Given the description of an element on the screen output the (x, y) to click on. 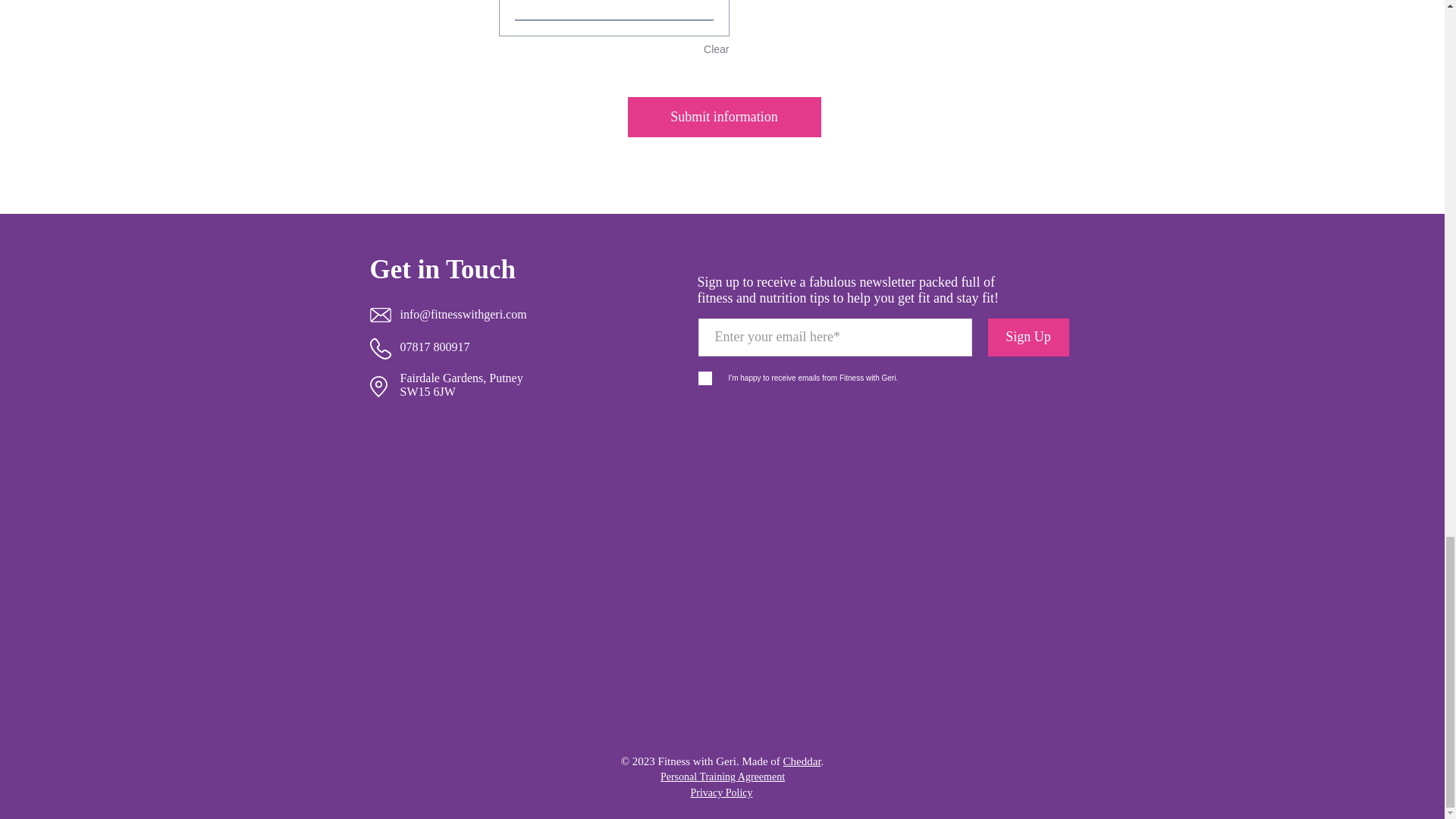
Clear (716, 49)
07817 800917 (435, 346)
Cheddar (802, 761)
Personal Training Agreement (722, 776)
Privacy Policy (721, 792)
Sign Up (1027, 337)
Submit information (724, 117)
